Given the description of an element on the screen output the (x, y) to click on. 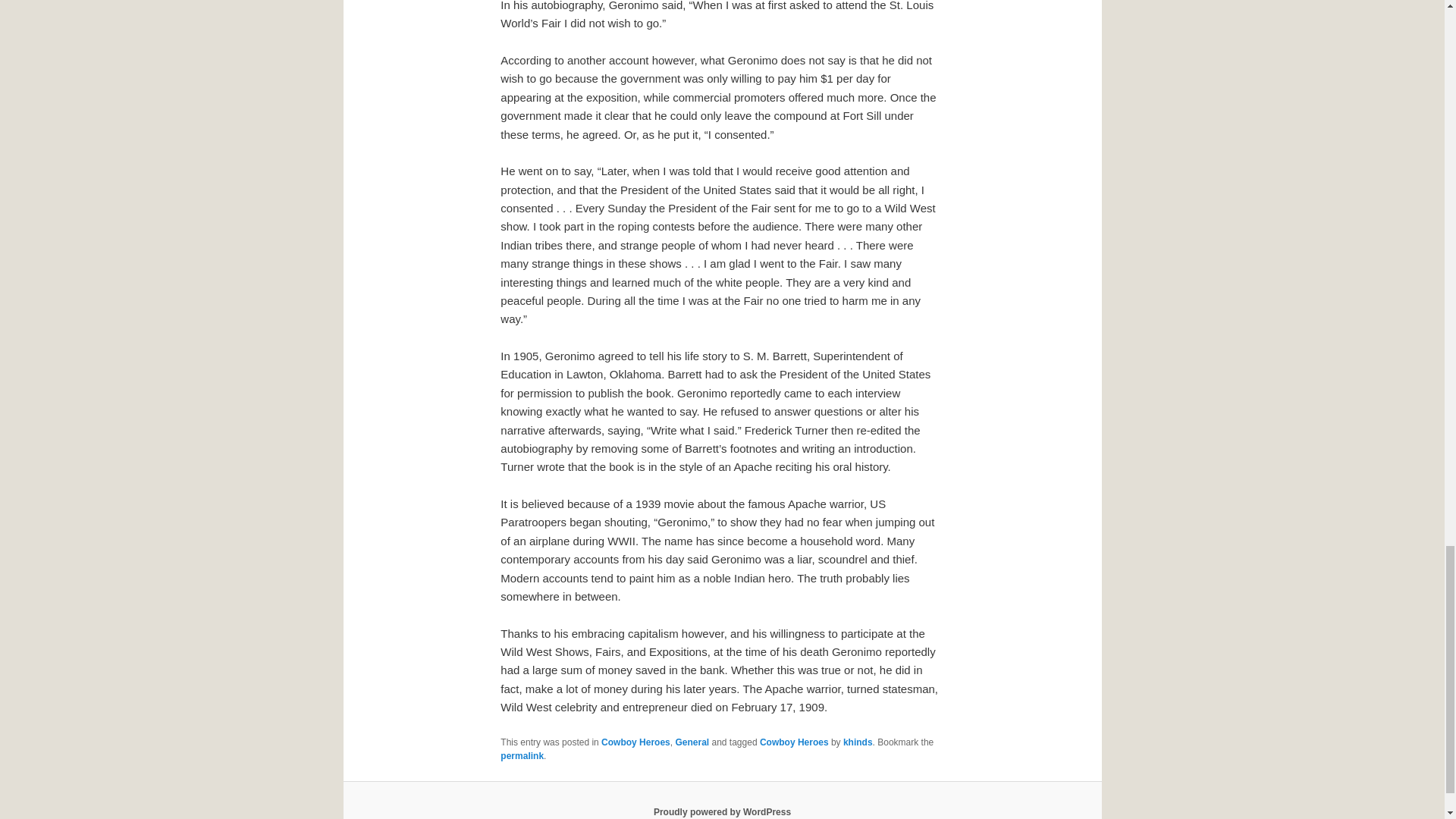
Permalink to Cowboy Heroes (521, 756)
Semantic Personal Publishing Platform (721, 811)
Cowboy Heroes (635, 742)
Proudly powered by WordPress (721, 811)
permalink (521, 756)
khinds (857, 742)
Cowboy Heroes (794, 742)
General (692, 742)
